Given the description of an element on the screen output the (x, y) to click on. 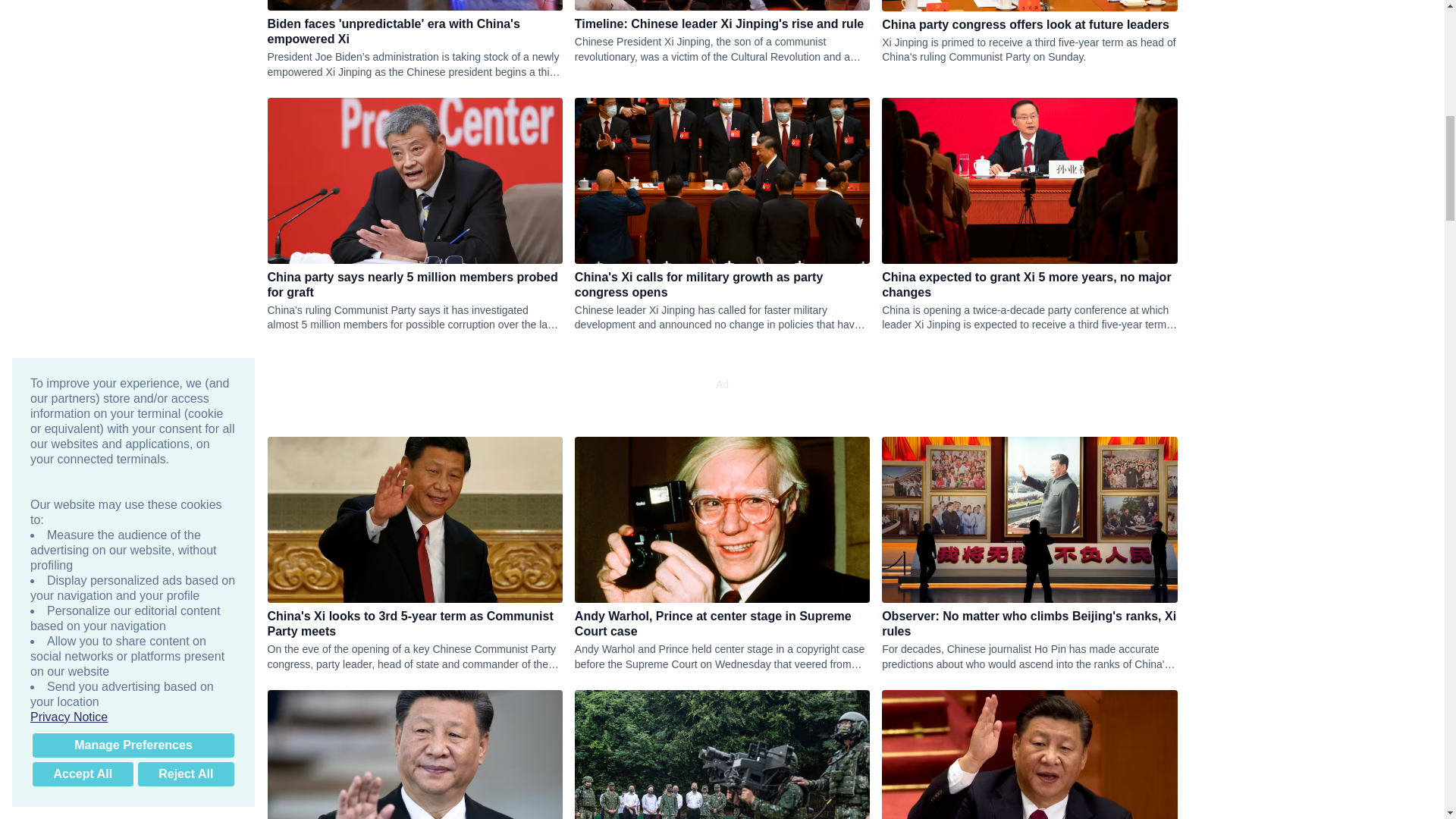
China's Xi calls for military growth as party congress opens (722, 285)
China party says nearly 5 million members probed for graft (414, 285)
China party congress offers look at future leaders (1029, 23)
Timeline: Chinese leader Xi Jinping's rise and rule (722, 23)
Biden faces 'unpredictable' era with China's empowered Xi (414, 31)
China expected to grant Xi 5 more years, no major changes (1029, 285)
